Given the description of an element on the screen output the (x, y) to click on. 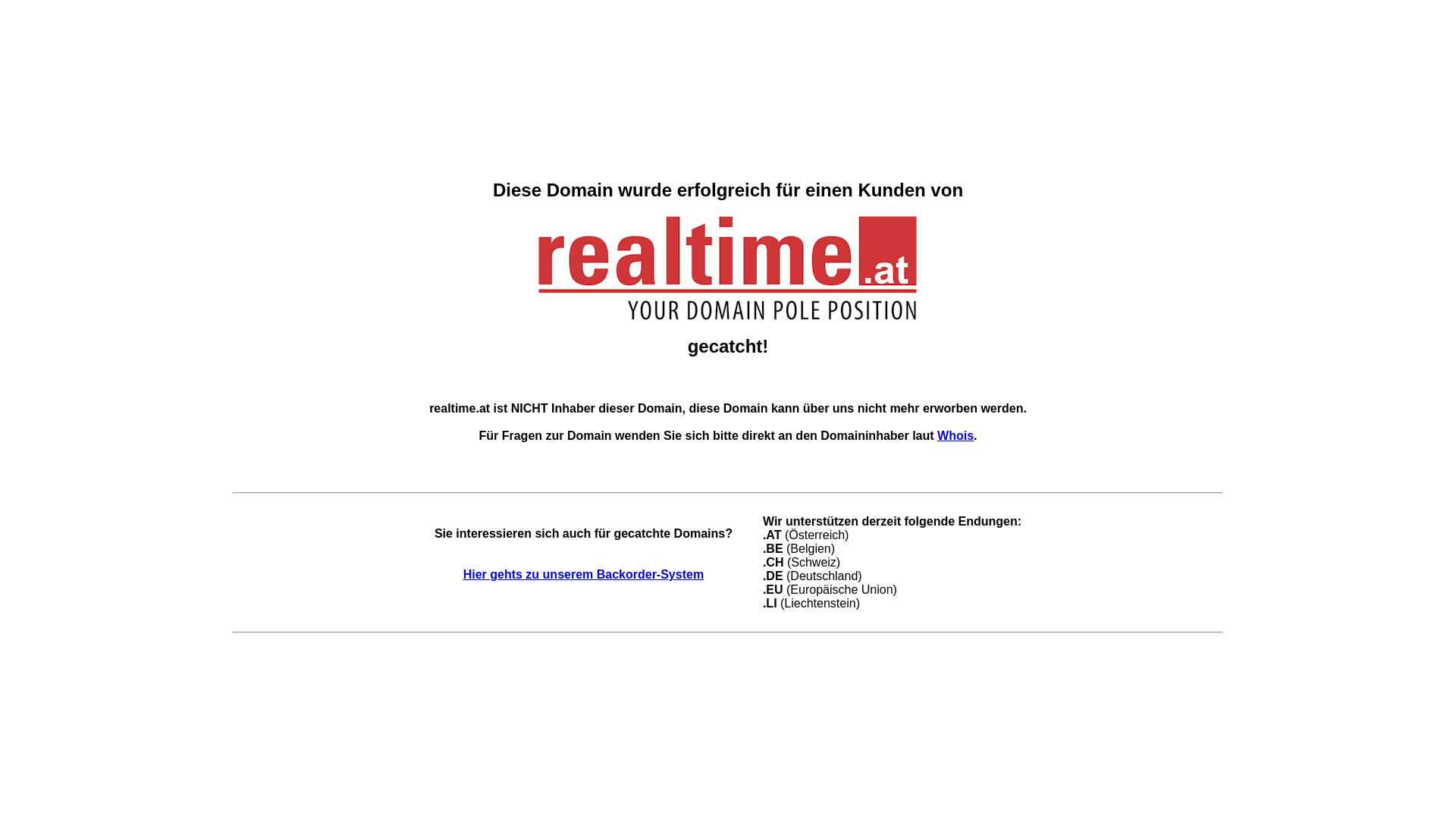
Hier gehts zu unserem Backorder-System Element type: text (583, 573)
Whois Element type: text (955, 435)
